Given the description of an element on the screen output the (x, y) to click on. 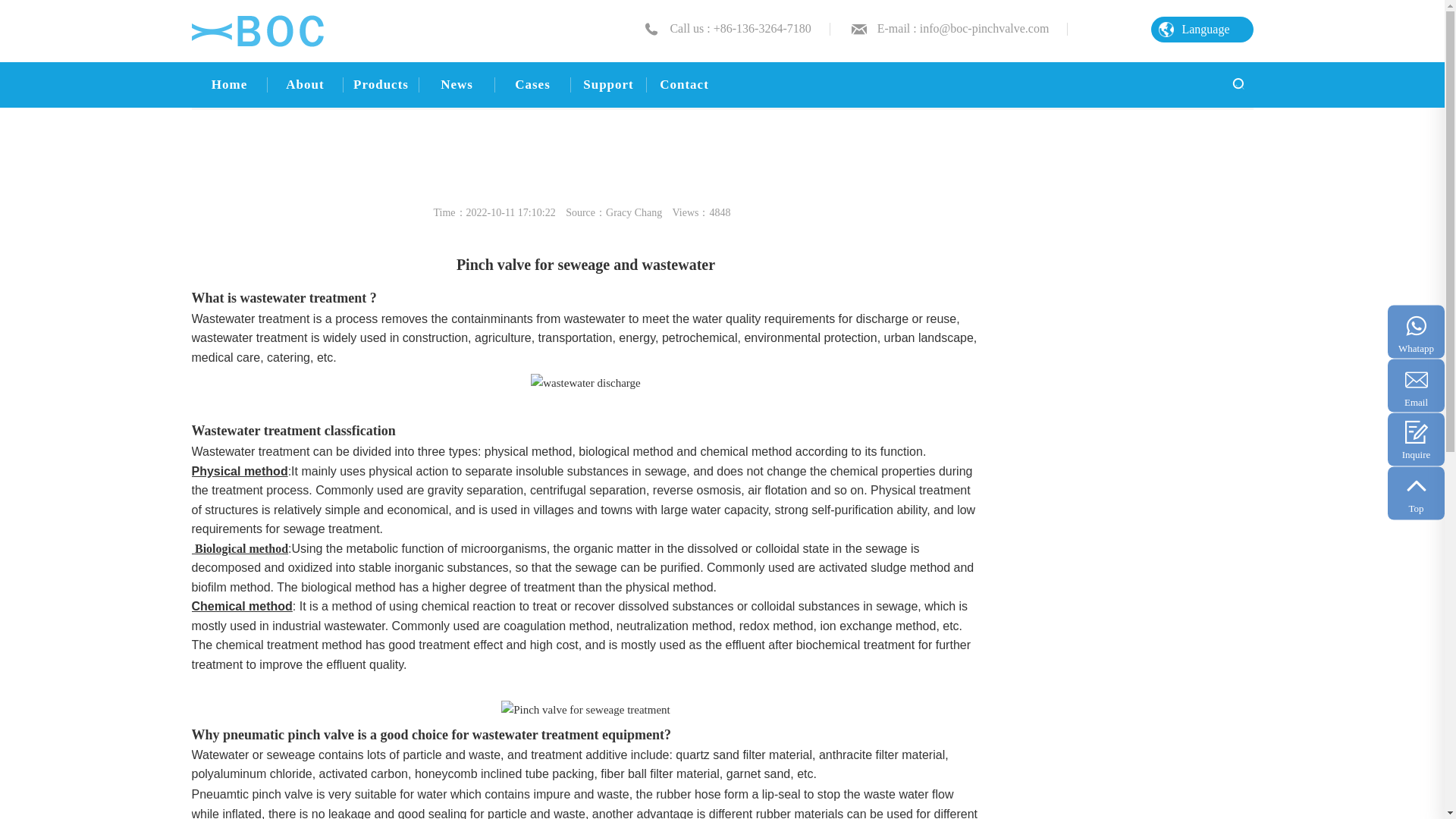
Contact (684, 84)
Language (1201, 29)
Cases (532, 84)
Support (608, 84)
About (304, 84)
News (457, 84)
Products (380, 84)
Pinch valve for seweage treatment (584, 710)
wastewater discharge (585, 383)
search (1236, 83)
